Given the description of an element on the screen output the (x, y) to click on. 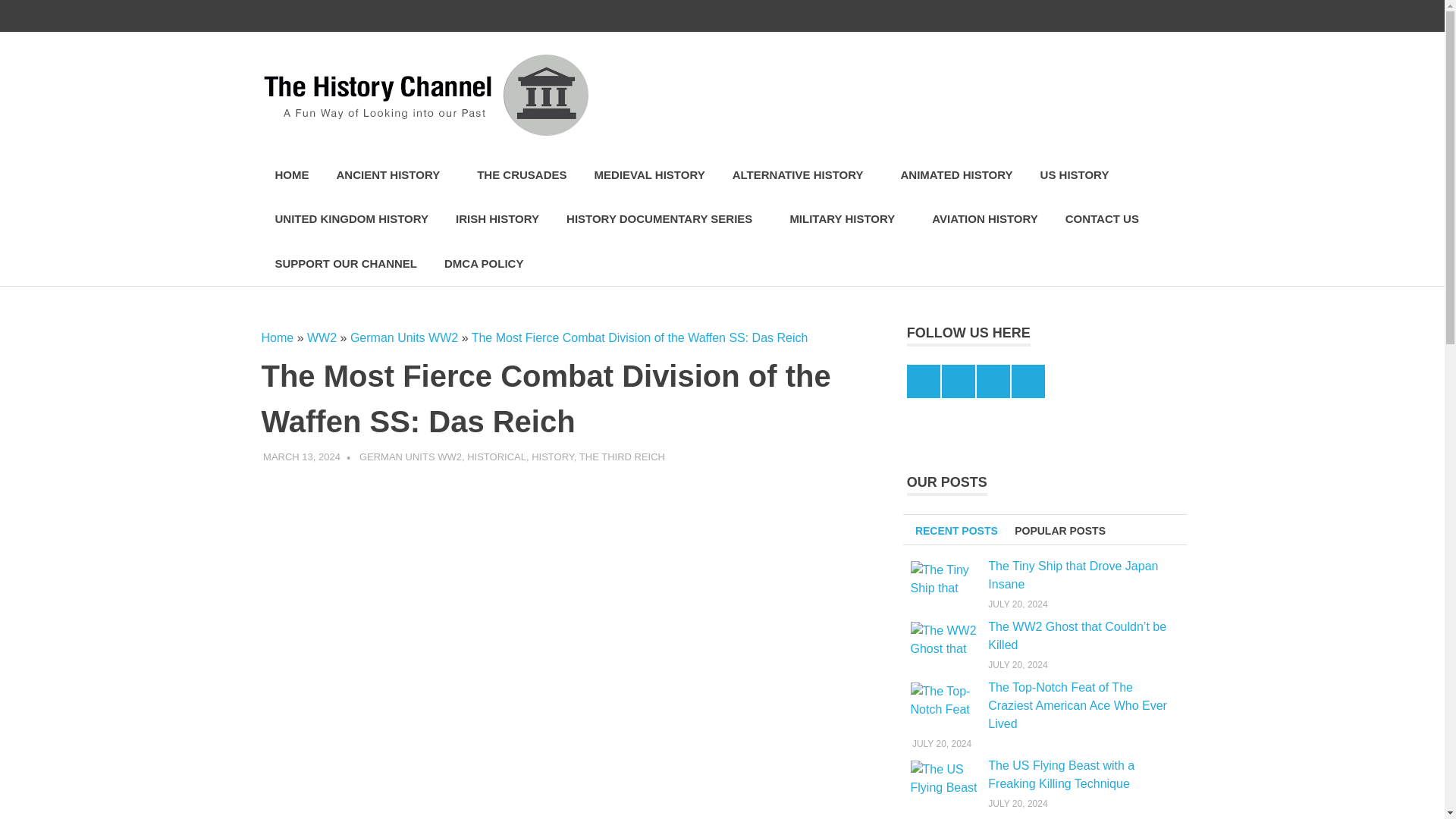
The Most Fierce Combat Division of the Waffen SS: Das Reich (639, 337)
Telegram Group (1135, 15)
feed (1071, 15)
US HISTORY (1074, 175)
ALTERNATIVE HISTORY (802, 175)
UNITED KINGDOM HISTORY (351, 219)
HOME (290, 175)
View all posts by Unipro2013main (398, 456)
THE CRUSADES (521, 175)
ANIMATED HISTORY (956, 175)
IRISH HISTORY (497, 219)
WW2 (321, 337)
The Tiny Ship that Drove Japan Insane (944, 580)
Home (277, 337)
Telegram Channel (1103, 15)
